Given the description of an element on the screen output the (x, y) to click on. 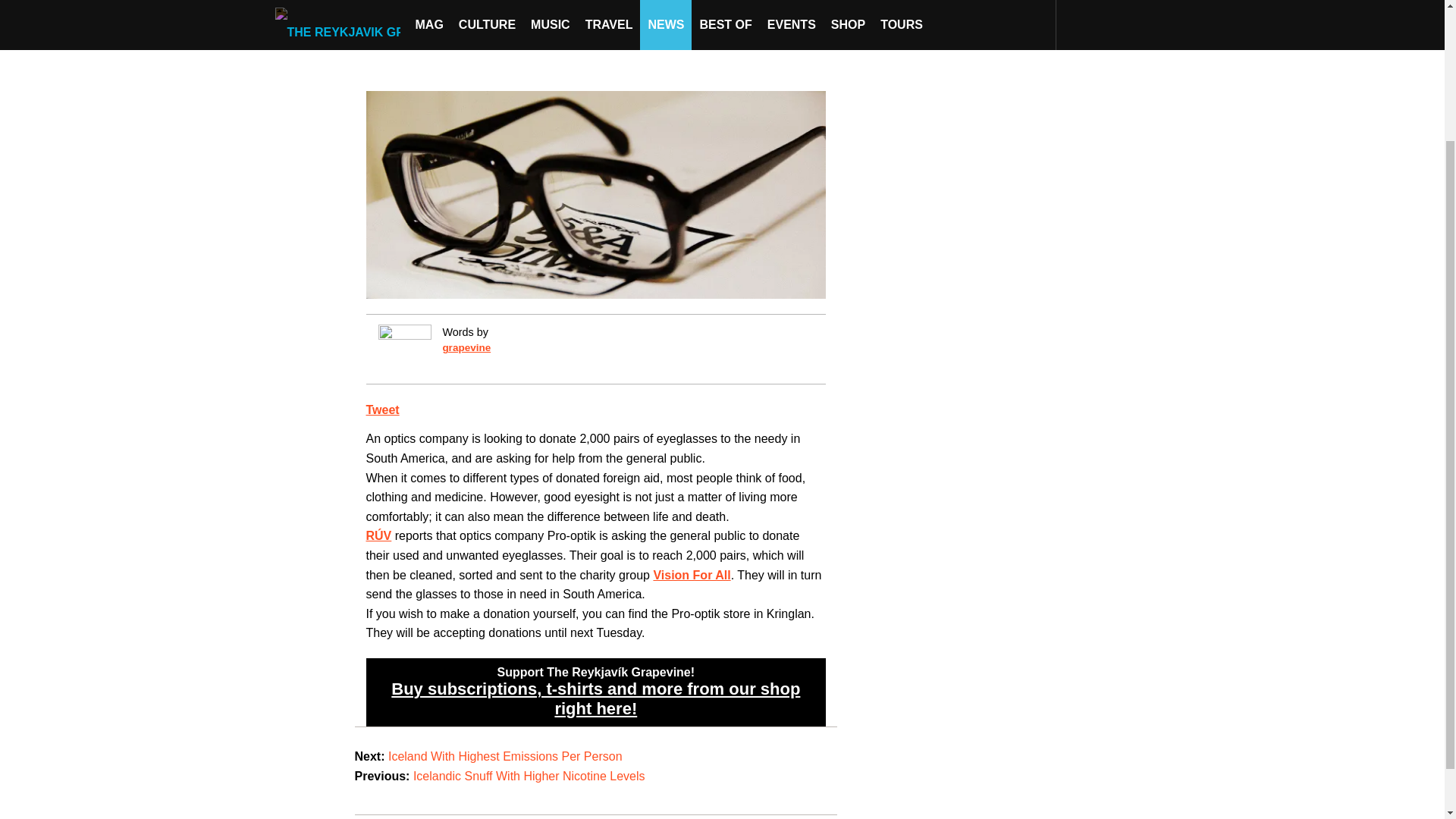
Icelandic Snuff With Higher Nicotine Levels (529, 775)
Posts by grapevine (466, 347)
grapevine (466, 347)
Tweet (381, 409)
Vision For All (691, 574)
Iceland With Highest Emissions Per Person (505, 756)
